Given the description of an element on the screen output the (x, y) to click on. 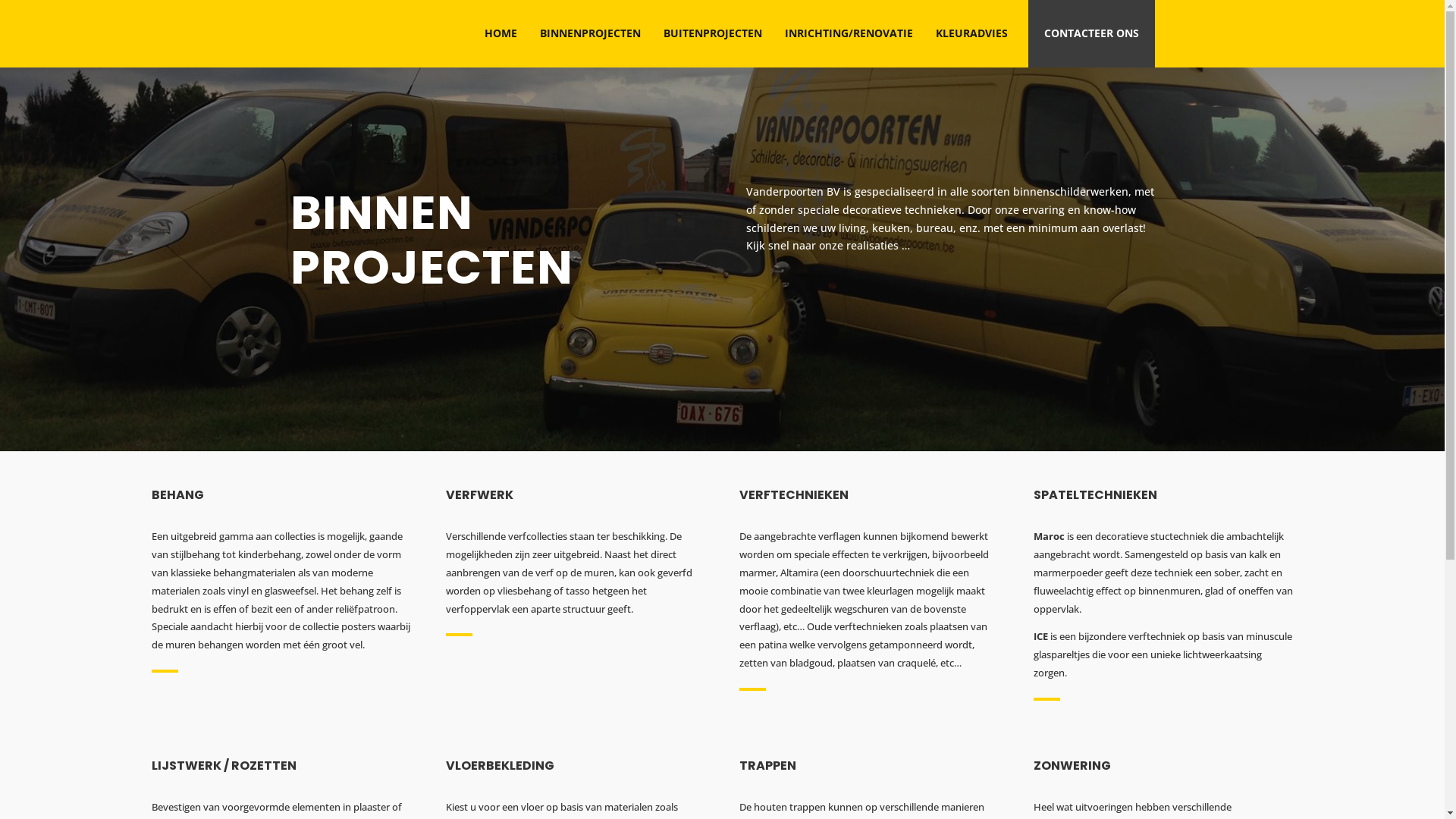
INRICHTING/RENOVATIE Element type: text (848, 33)
BINNENPROJECTEN Element type: text (589, 33)
KLEURADVIES Element type: text (970, 33)
BUITENPROJECTEN Element type: text (712, 33)
HOME Element type: text (500, 33)
CONTACTEER ONS Element type: text (1091, 33)
